Given the description of an element on the screen output the (x, y) to click on. 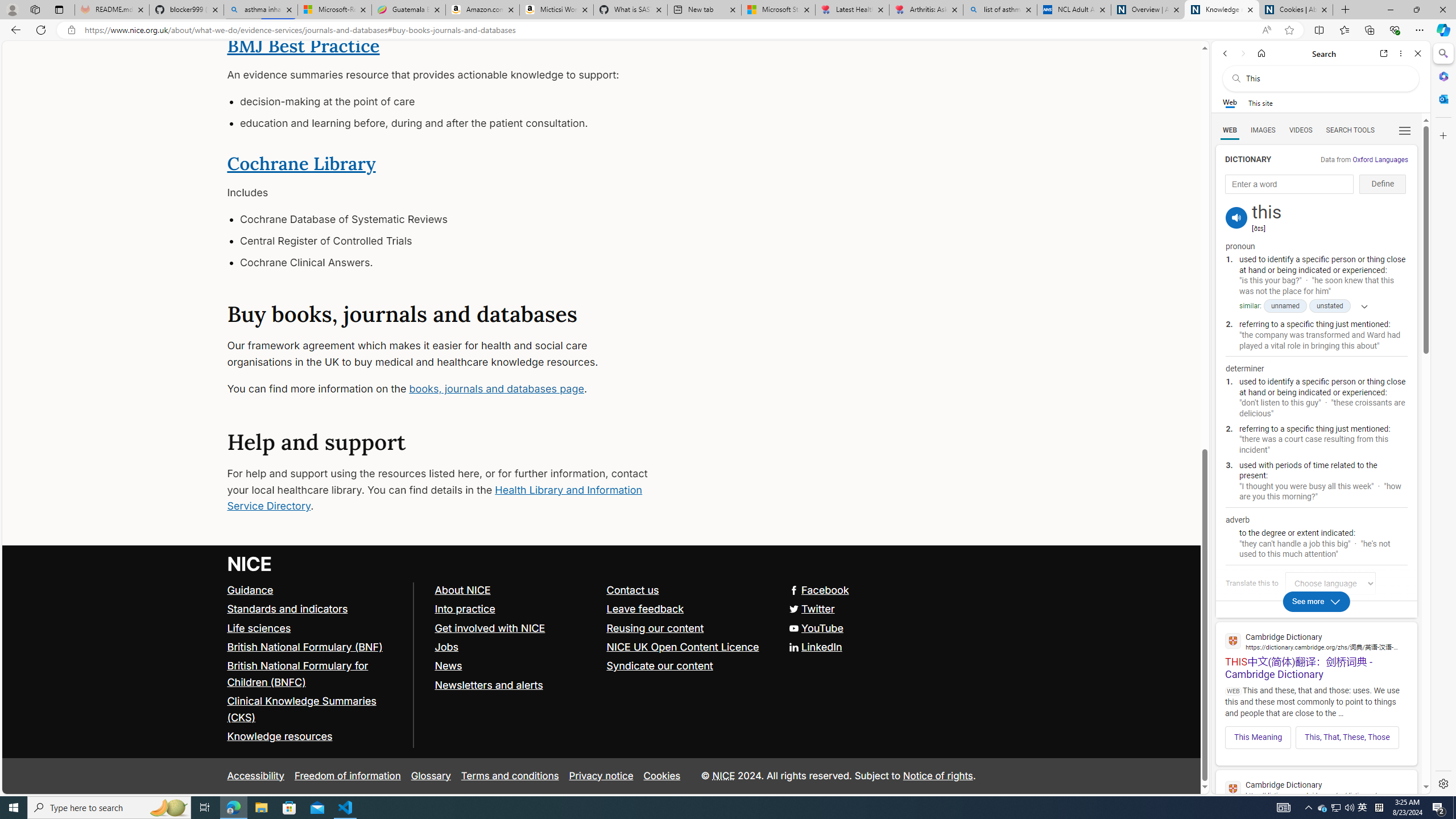
Forward (1242, 53)
This Meaning (1257, 737)
Leave feedback (644, 608)
Close Customize pane (1442, 135)
Terms and conditions (509, 775)
This MeaningThis, That, These, Those (1315, 734)
Web scope (1230, 102)
Search Filter, WEB (1230, 129)
Freedom of information (347, 775)
Home (1261, 53)
Get involved with NICE (514, 628)
Health Library and Information Service Directory (434, 497)
